Given the description of an element on the screen output the (x, y) to click on. 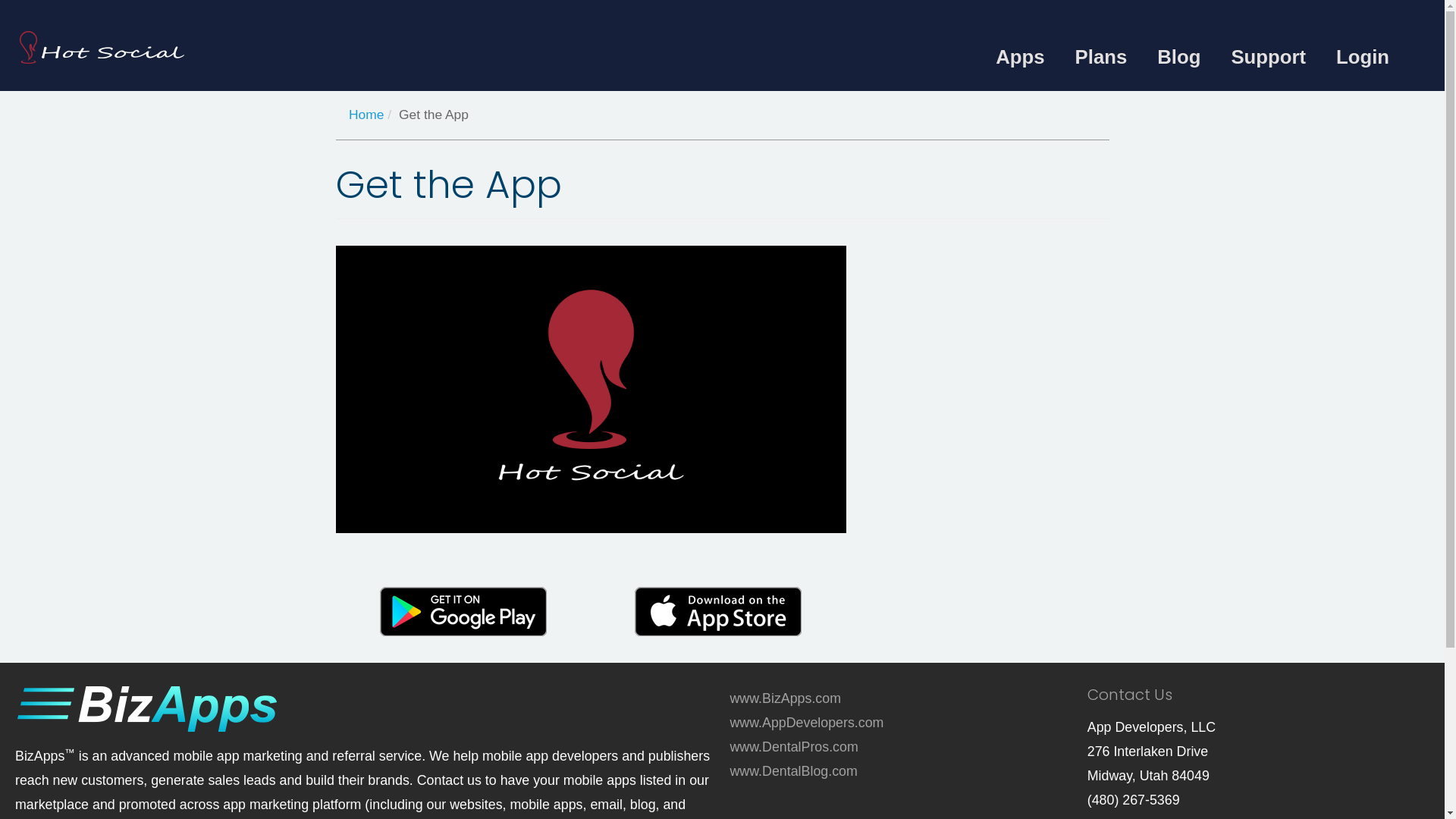
www.DentalBlog.com Element type: text (792, 770)
Support Element type: text (1268, 56)
www.DentalPros.com Element type: text (793, 746)
www.AppDevelopers.com Element type: text (806, 722)
Google Play Element type: hover (462, 611)
Login Element type: text (1362, 56)
Plans Element type: text (1101, 56)
www.BizApps.com Element type: text (784, 698)
Home Element type: text (365, 114)
Apps Element type: text (1019, 56)
Blog Element type: text (1178, 56)
App Store Element type: hover (717, 611)
